Given the description of an element on the screen output the (x, y) to click on. 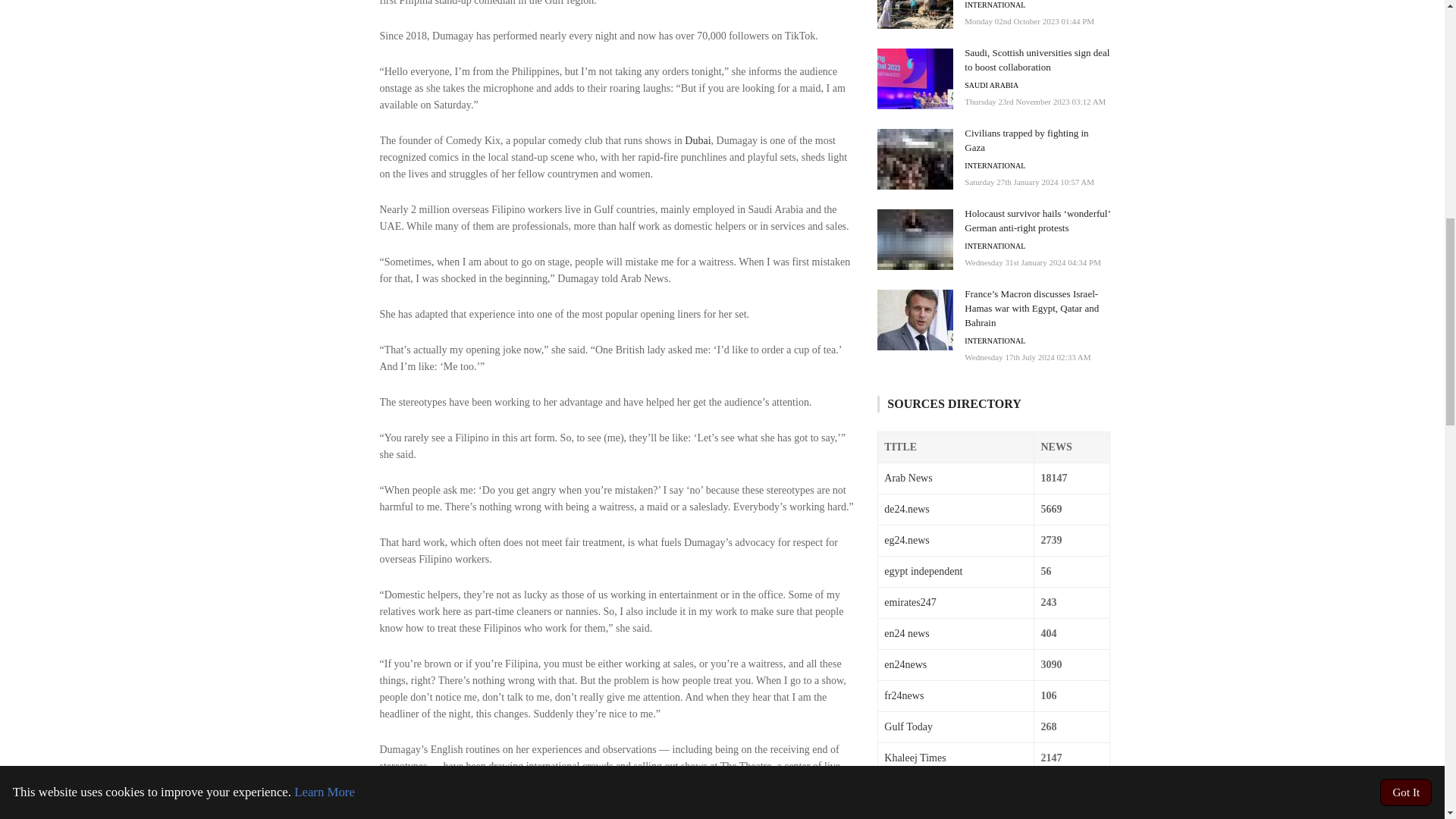
Dubai (697, 140)
